Given the description of an element on the screen output the (x, y) to click on. 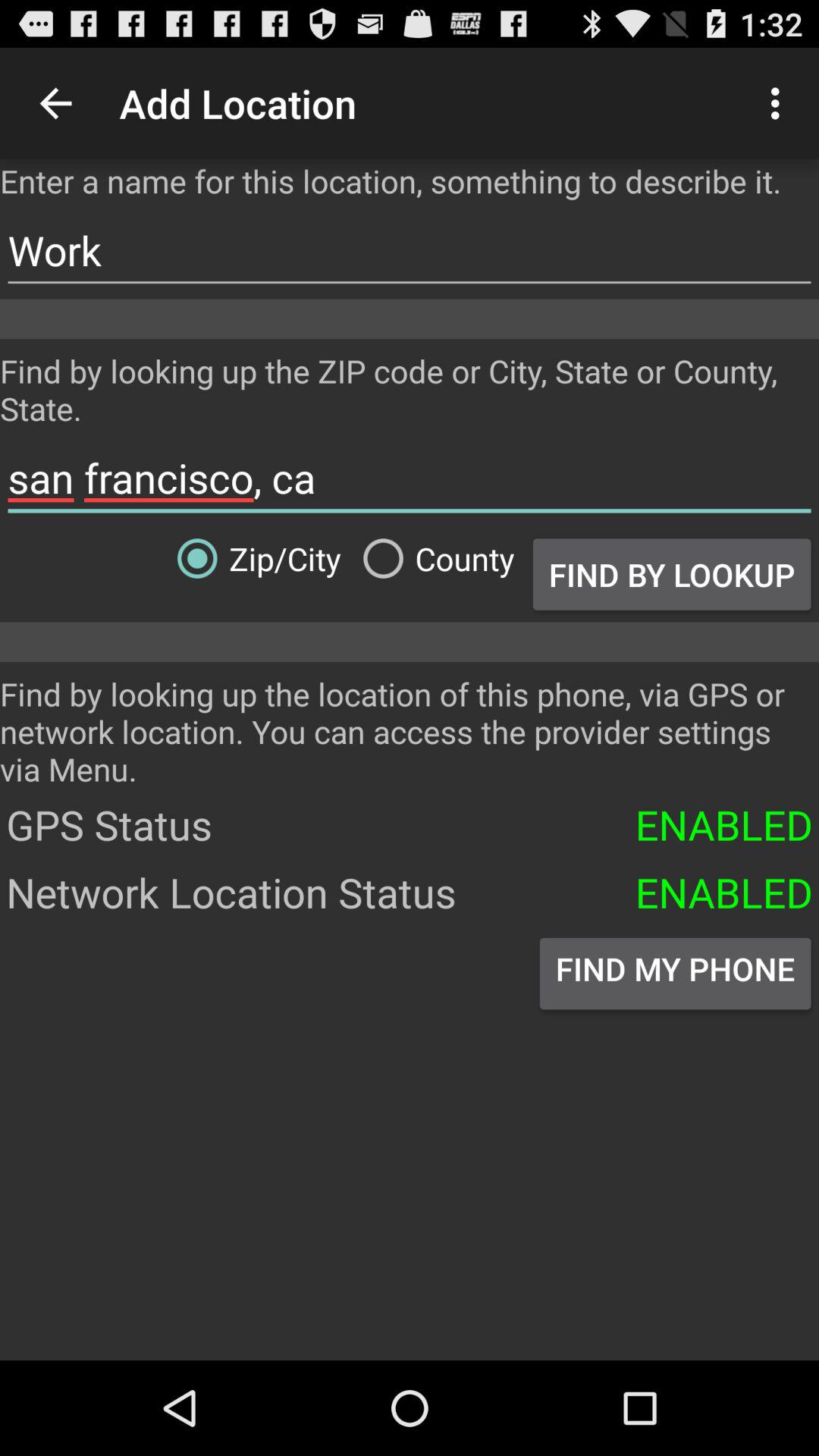
turn on the icon at the top right corner (779, 103)
